Given the description of an element on the screen output the (x, y) to click on. 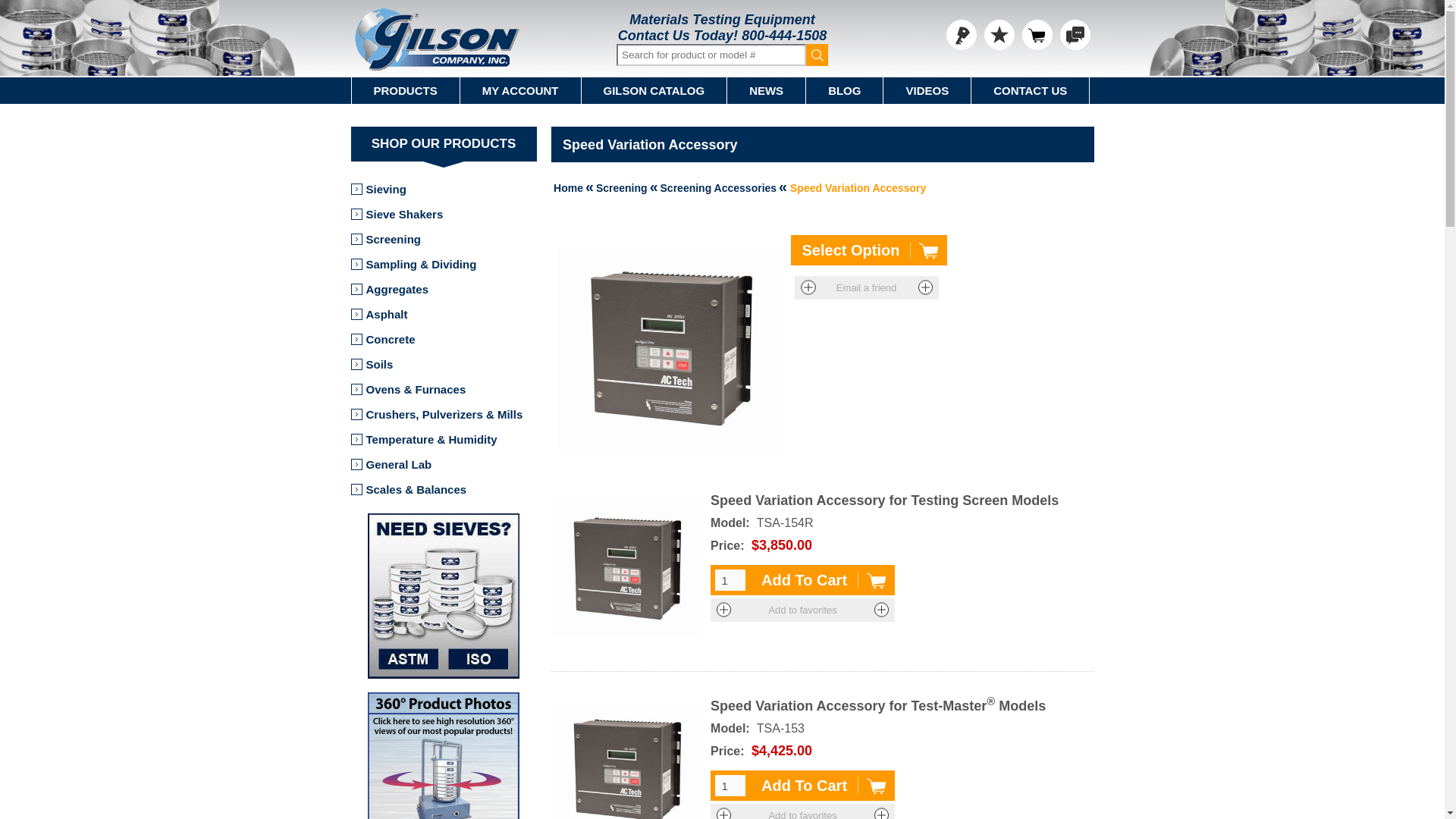
Add to favorites (802, 609)
GILSON CATALOG (654, 90)
Shopping Cart (1037, 34)
Select Option (868, 250)
Email a friend (866, 287)
Search (817, 55)
PRODUCTS (406, 90)
Favorites List (999, 34)
Log in (961, 34)
Gilson Chat (1074, 34)
MY ACCOUNT (520, 90)
Log in (961, 34)
Search (817, 55)
Gilson Chat (1074, 34)
Favorites List (999, 34)
